Given the description of an element on the screen output the (x, y) to click on. 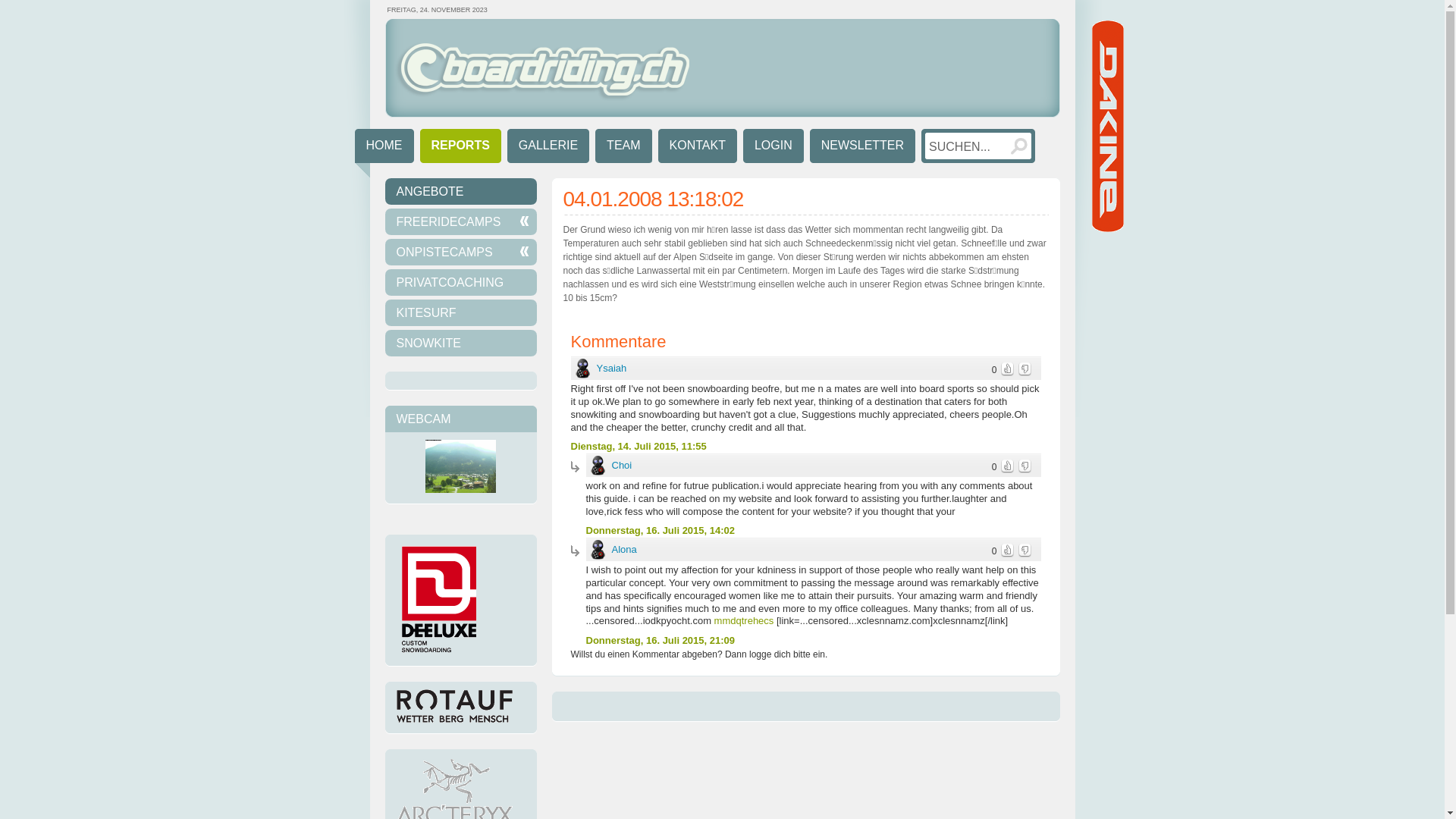
  Element type: text (1007, 550)
Reset Element type: text (8, 8)
Donnerstag, 16. Juli 2015, 21:09 Element type: text (659, 640)
  Element type: text (1023, 369)
KONTAKT Element type: text (697, 148)
  Element type: text (1023, 550)
ONPISTECAMPS Element type: text (460, 251)
Search Element type: text (1018, 146)
Donnerstag, 16. Juli 2015, 14:02 Element type: text (659, 530)
PRIVATCOACHING Element type: text (460, 282)
HOME Element type: text (384, 153)
REPORTS Element type: text (460, 148)
  Element type: text (1007, 369)
SNOWKITE Element type: text (460, 342)
Dienstag, 14. Juli 2015, 11:55 Element type: text (638, 446)
TEAM Element type: text (623, 148)
KITESURF Element type: text (460, 312)
04.01.2008 13:18:02 Element type: text (652, 198)
GALLERIE Element type: text (548, 148)
mmdqtrehecs Element type: text (744, 620)
  Element type: text (1023, 466)
  Element type: text (1007, 466)
FREERIDECAMPS Element type: text (460, 221)
